Given the description of an element on the screen output the (x, y) to click on. 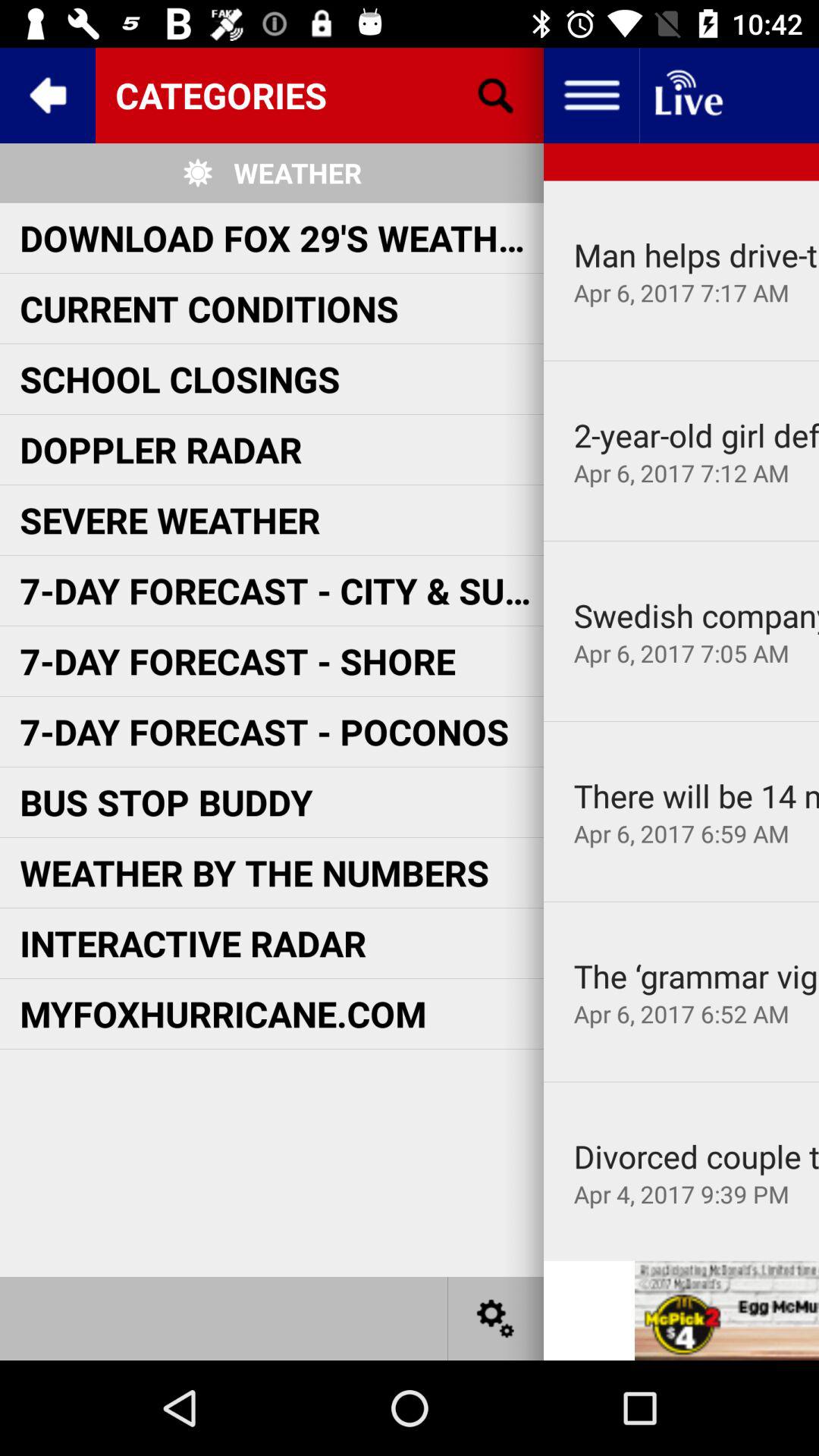
mcdonalds advertisement (726, 1310)
